Given the description of an element on the screen output the (x, y) to click on. 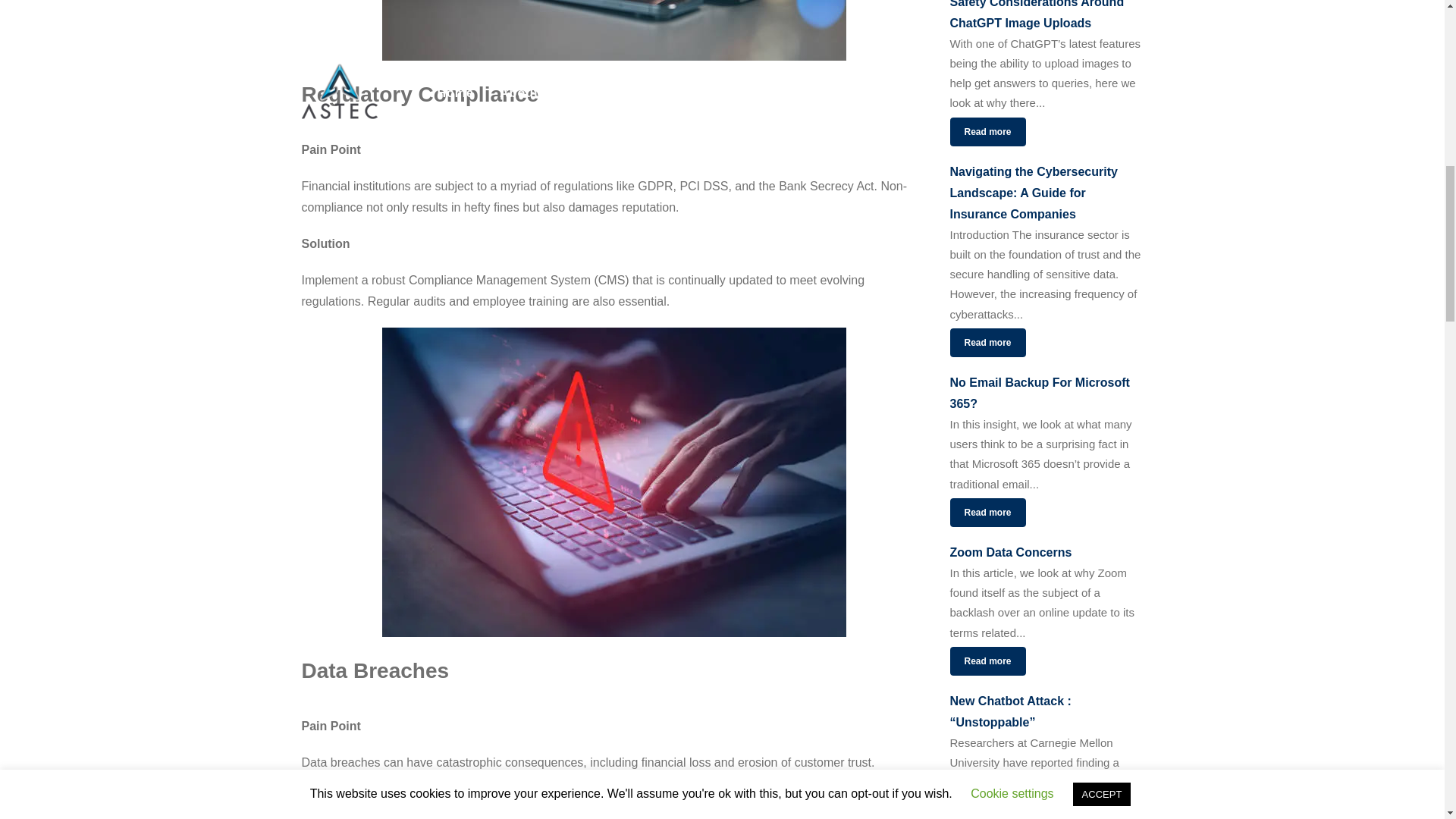
Read more (987, 661)
No Email Backup For Microsoft 365? (1045, 393)
Safety Considerations Around ChatGPT Image Uploads (1045, 17)
Read more (987, 342)
Zoom Data Concerns (1045, 552)
Read more (987, 131)
Read more (987, 512)
